Given the description of an element on the screen output the (x, y) to click on. 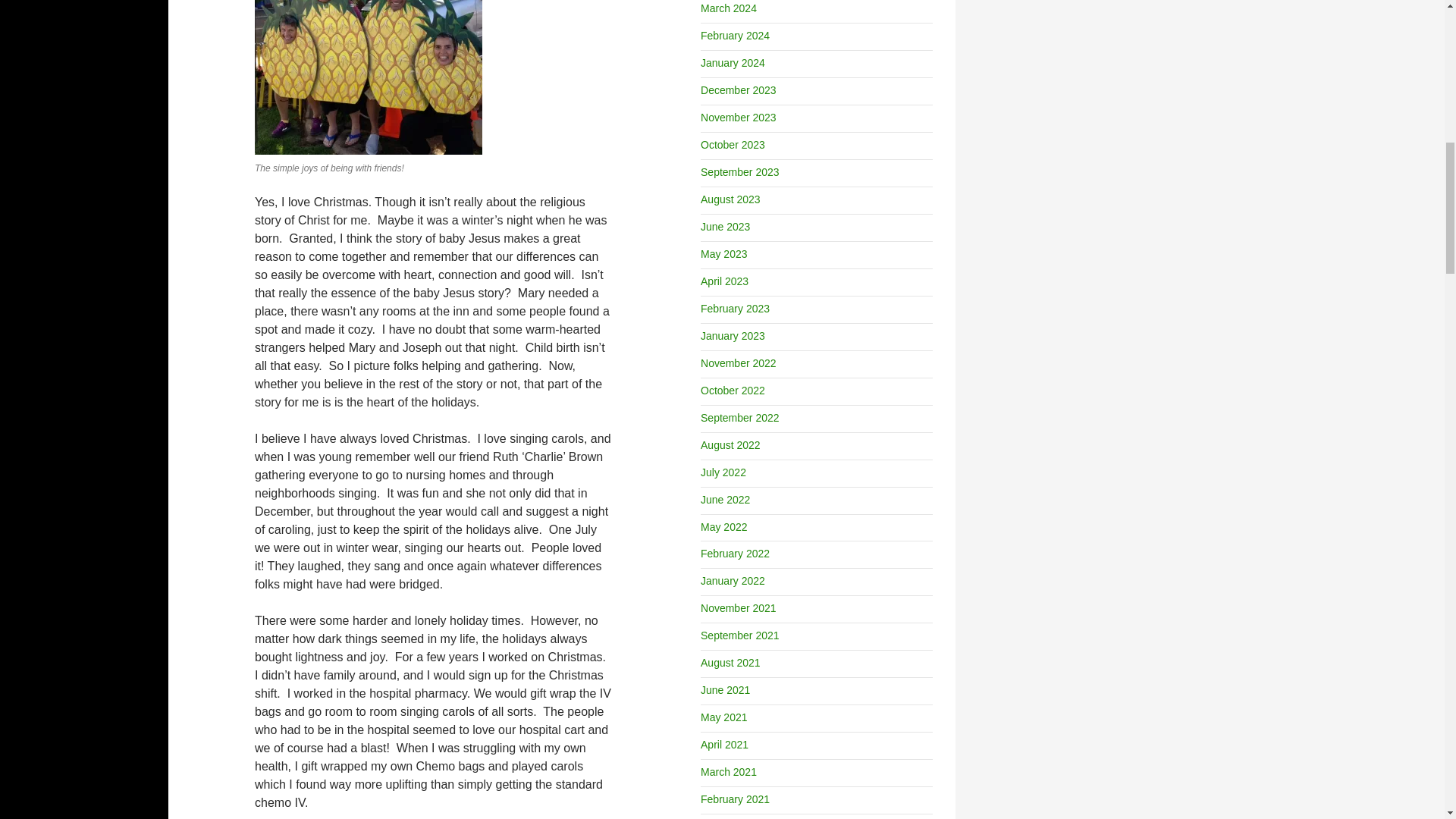
November 2023 (738, 117)
September 2023 (739, 172)
February 2024 (735, 35)
December 2023 (738, 90)
March 2024 (728, 8)
January 2024 (732, 62)
October 2023 (732, 144)
